Given the description of an element on the screen output the (x, y) to click on. 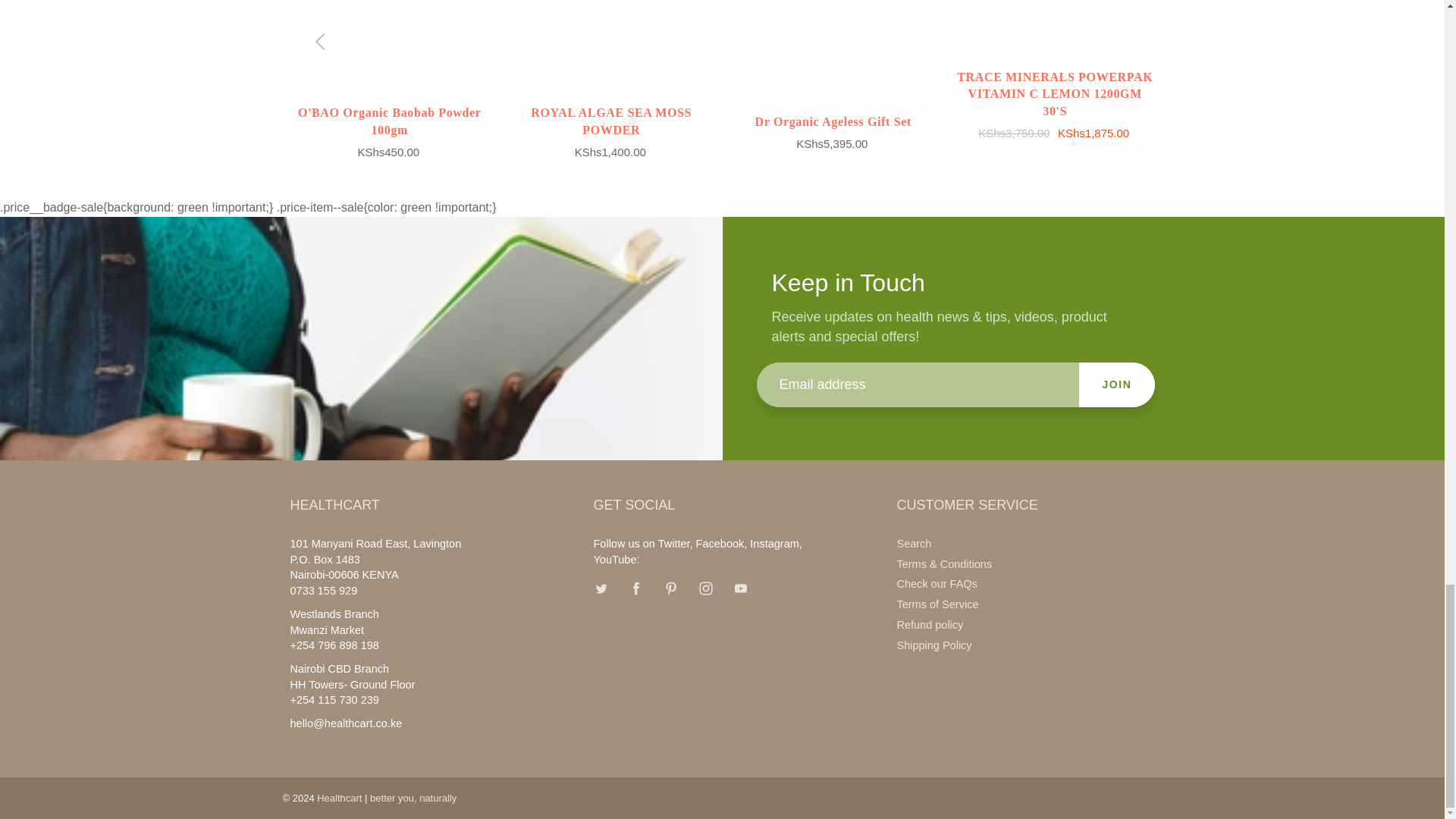
Pinterest (671, 587)
Twitter (601, 587)
Facebook (636, 587)
Instagram (706, 587)
YouTube (741, 587)
